Given the description of an element on the screen output the (x, y) to click on. 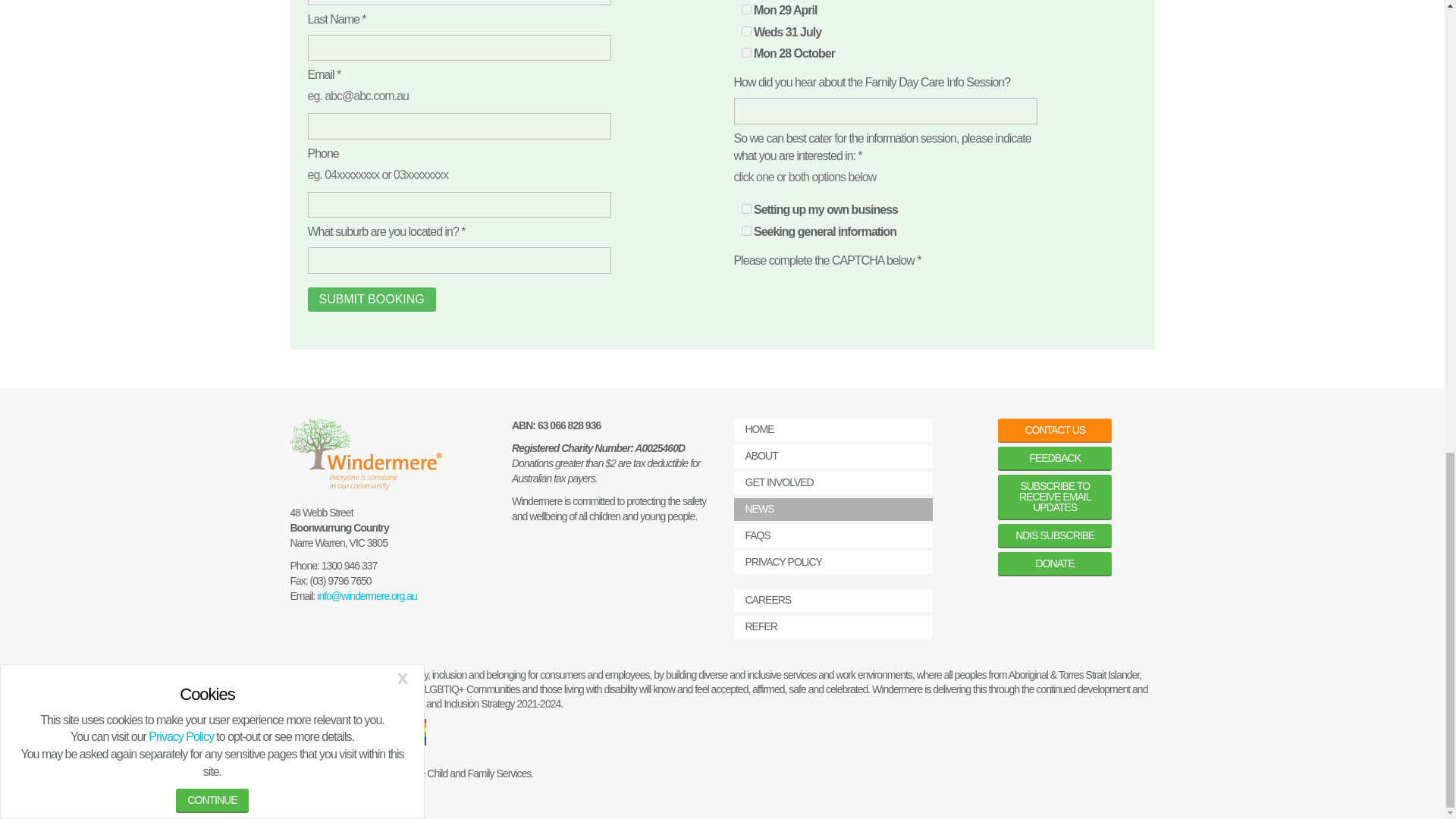
Mon 28 October (746, 52)
Submit Booking (371, 299)
Seeking general information (746, 230)
Mon 29 April (746, 9)
Setting up my own business (746, 208)
Weds 31 July (746, 31)
